Given the description of an element on the screen output the (x, y) to click on. 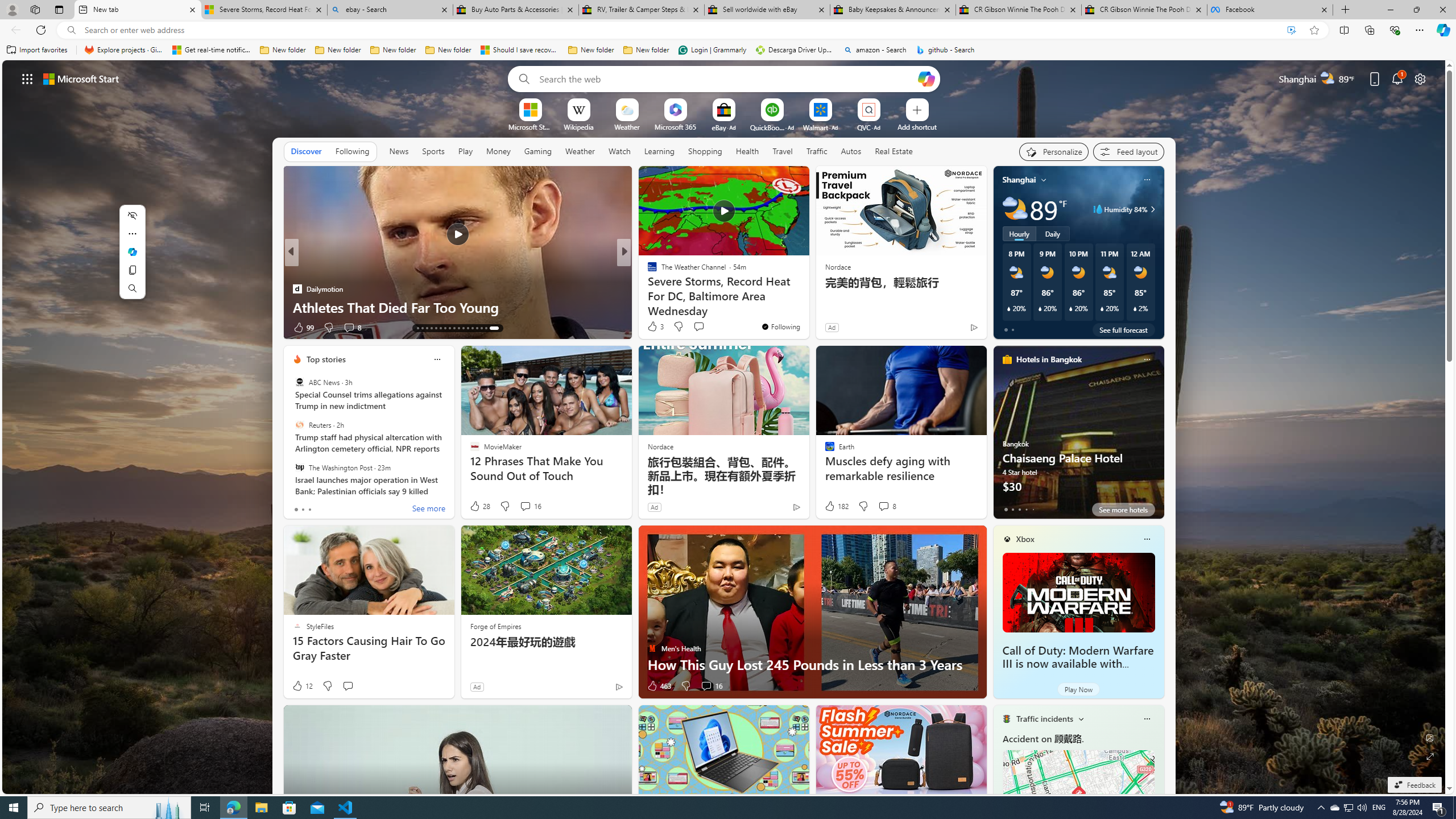
Login | Grammarly (712, 49)
MUO (647, 288)
182 Like (835, 505)
AutomationID: tab-22 (465, 328)
AutomationID: tab-19 (451, 328)
AutomationID: tab-18 (446, 328)
AutomationID: tab-24 (474, 328)
Athletes That Died Far Too Young (807, 307)
ABC News (299, 382)
